Given the description of an element on the screen output the (x, y) to click on. 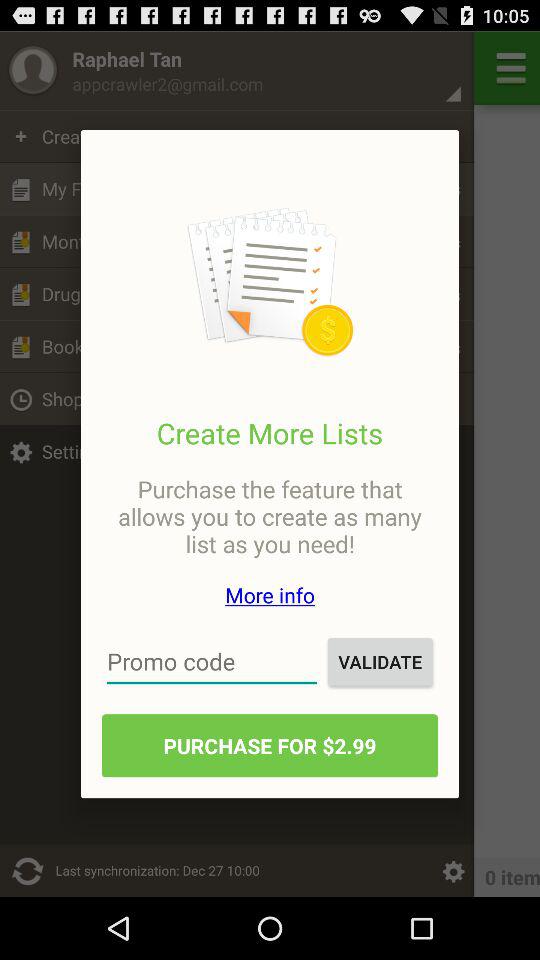
select item below purchase the feature icon (269, 594)
